Given the description of an element on the screen output the (x, y) to click on. 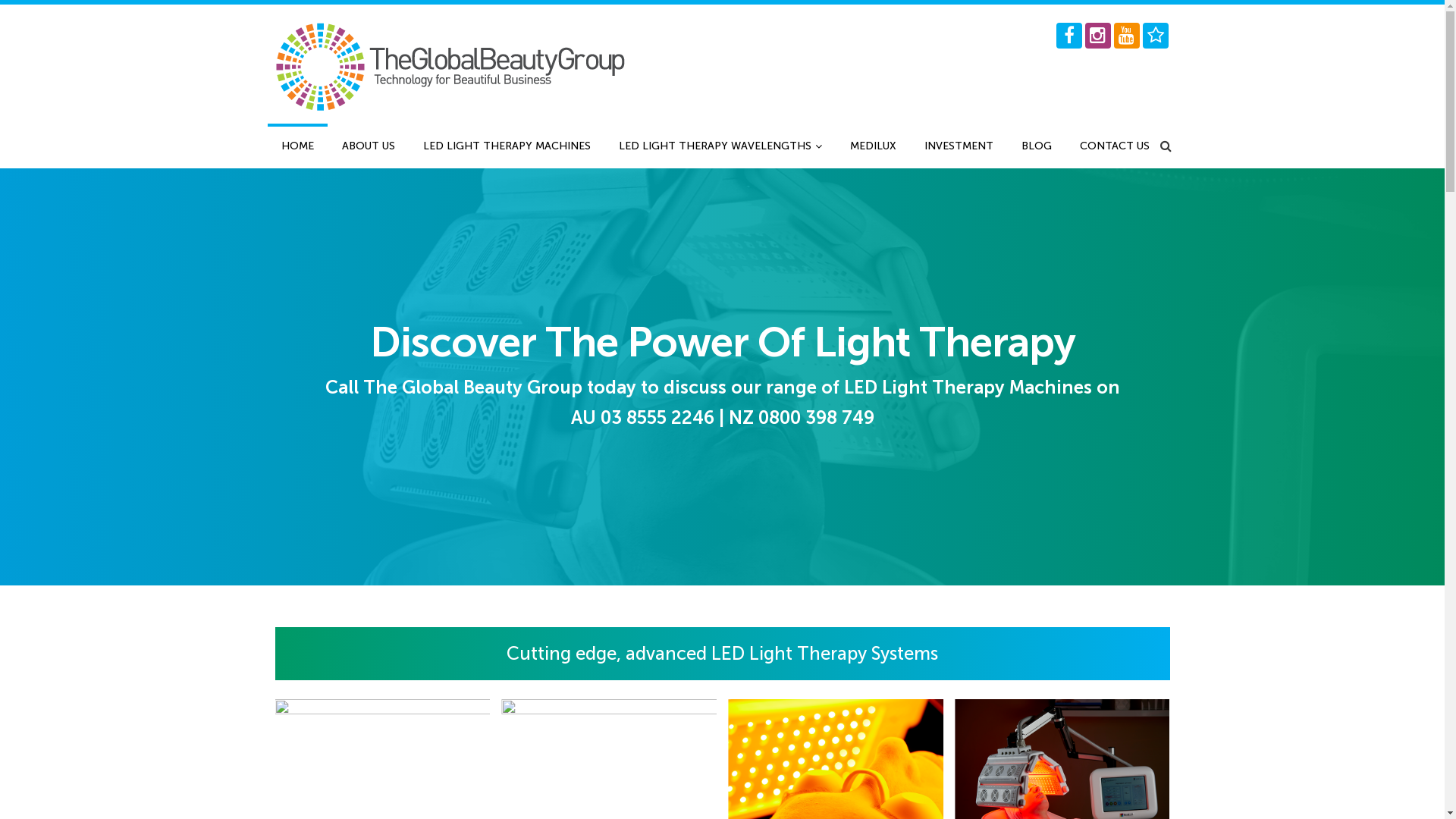
ABOUT US Element type: text (367, 145)
YouTube Element type: hover (1126, 35)
Facebook Element type: hover (1068, 35)
LED LIGHT THERAPY MACHINES Element type: text (506, 145)
LED LIGHT THERAPY WAVELENGTHS Element type: text (720, 145)
HOME Element type: text (296, 145)
CONTACT US Element type: text (1114, 145)
INVESTMENT Element type: text (958, 145)
BLOG Element type: text (1035, 145)
MEDILUX Element type: text (872, 145)
Instagram Element type: hover (1097, 35)
